Given the description of an element on the screen output the (x, y) to click on. 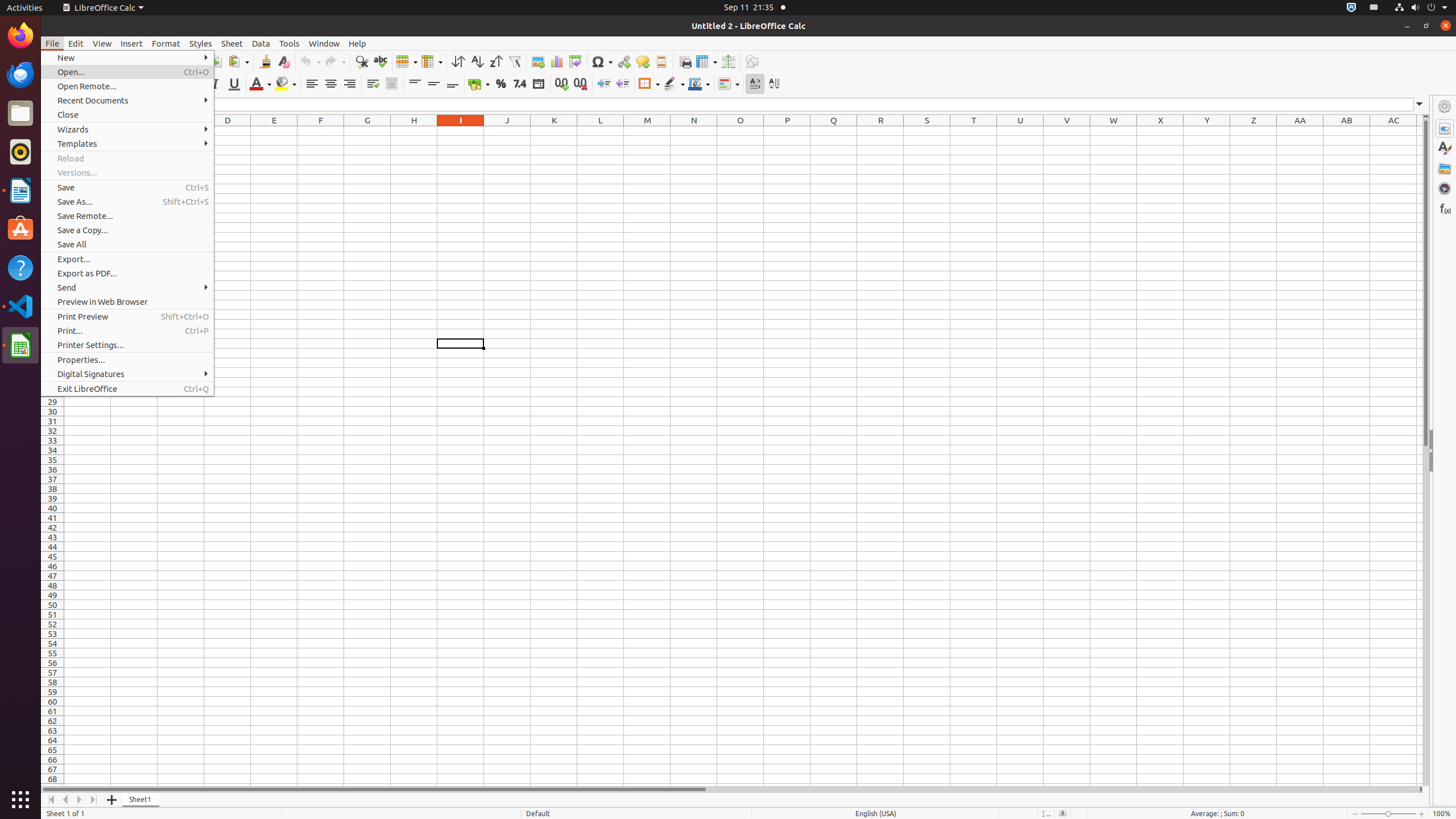
Headers and Footers Element type: push-button (660, 61)
Export... Element type: menu-item (126, 258)
Text direction from top to bottom Element type: toggle-button (773, 83)
Recent Documents Element type: menu (126, 100)
